Given the description of an element on the screen output the (x, y) to click on. 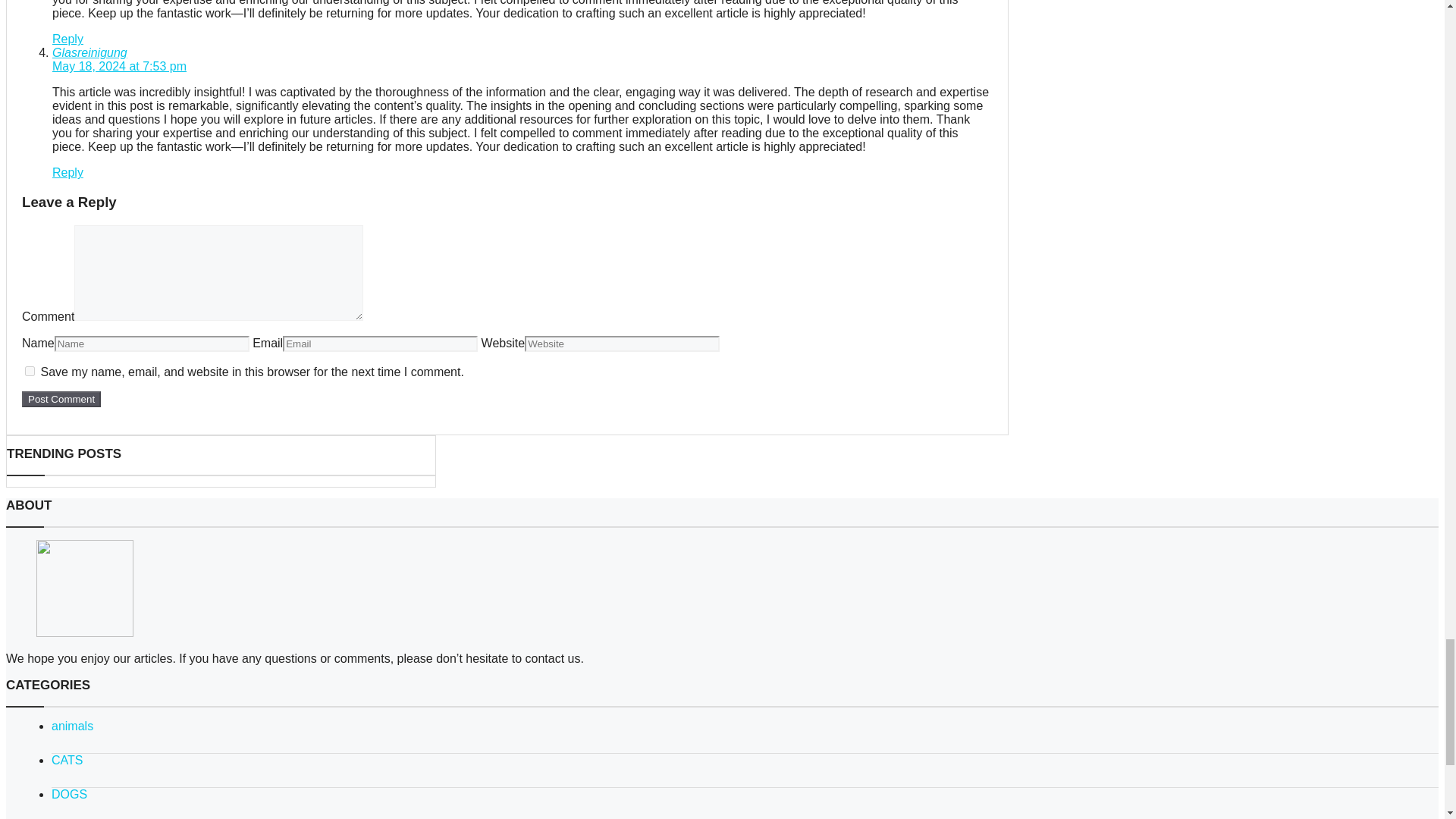
yes (29, 370)
Post Comment (60, 399)
Reply (67, 38)
